Given the description of an element on the screen output the (x, y) to click on. 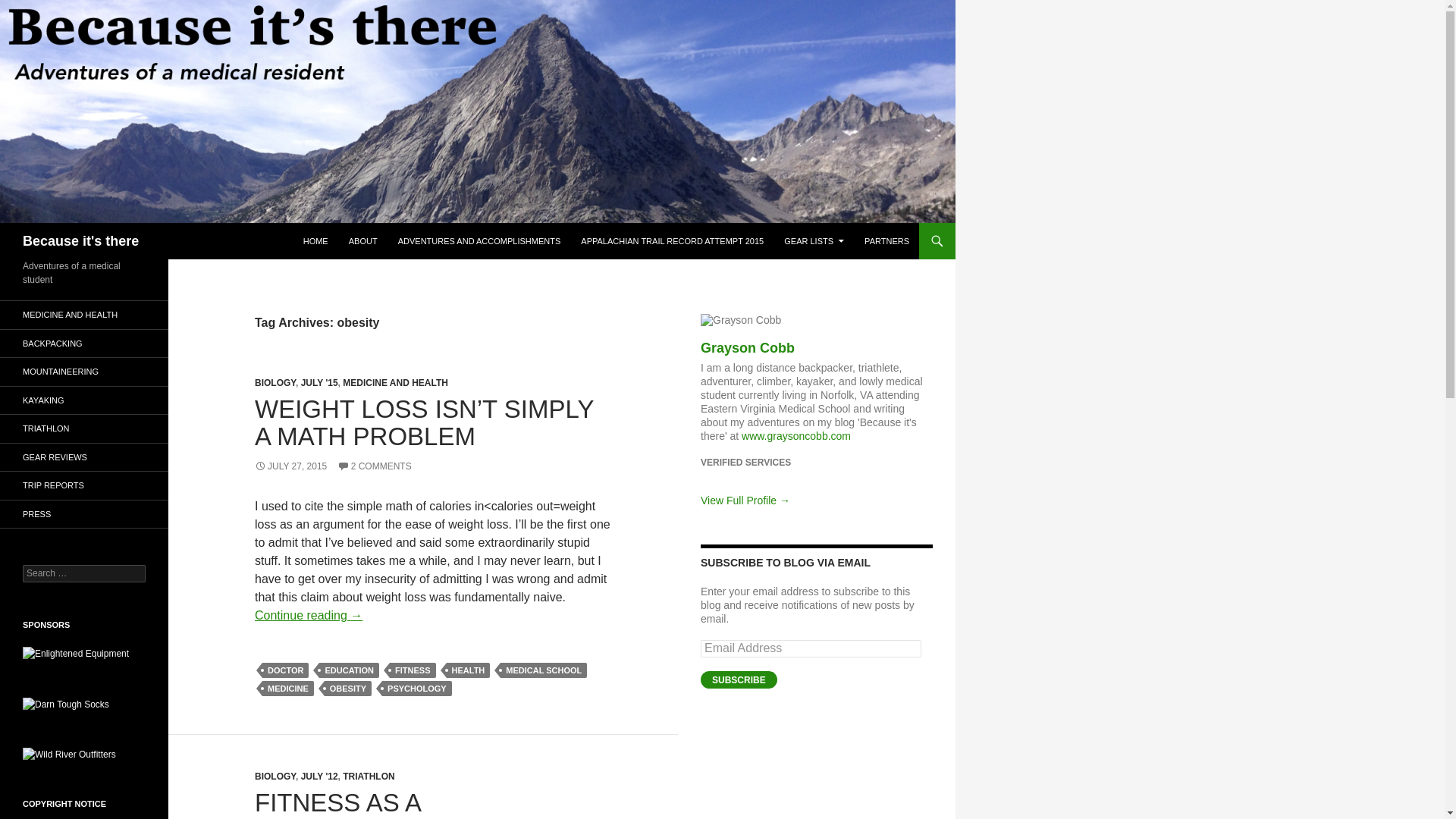
MEDICINE AND HEALTH (395, 382)
PSYCHOLOGY (416, 688)
JULY '12 (319, 776)
GEAR LISTS (813, 240)
JULY '15 (319, 382)
PARTNERS (887, 240)
DOCTOR (285, 670)
ADVENTURES AND ACCOMPLISHMENTS (479, 240)
FITNESS AS A CONSEQUENCE, NOT A GOAL (395, 803)
2 COMMENTS (374, 466)
MEDICAL SCHOOL (543, 670)
MEDICINE (288, 688)
OBESITY (347, 688)
HEALTH (467, 670)
